Given the description of an element on the screen output the (x, y) to click on. 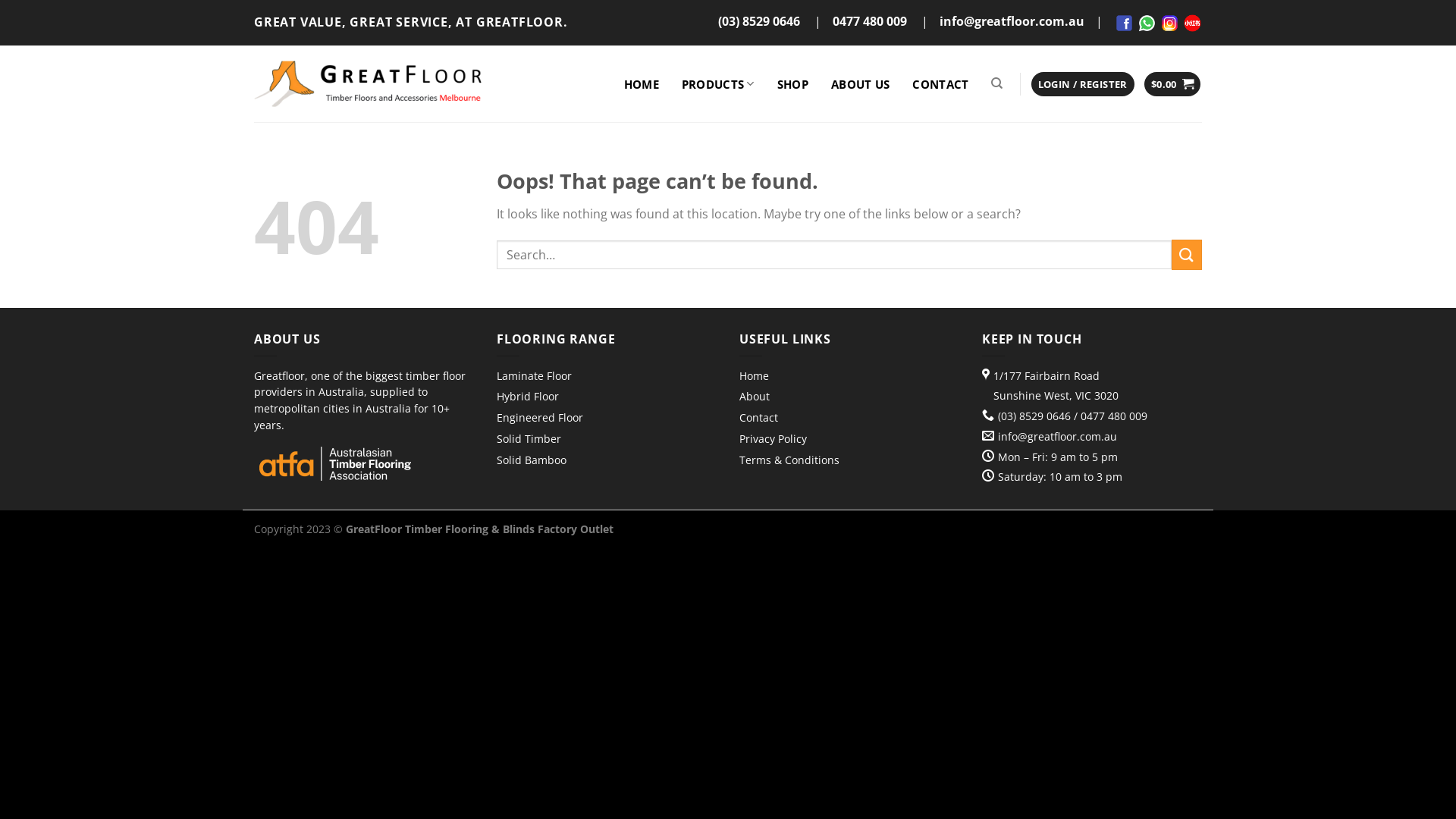
PRODUCTS Element type: text (718, 83)
info@greatfloor.com.au Element type: text (1011, 20)
Solid Timber Element type: text (528, 440)
Laminate Floor Element type: text (533, 378)
LOGIN / REGISTER Element type: text (1082, 84)
info@greatfloor.com.au Element type: text (1057, 436)
Skip to content Element type: text (0, 0)
Contact Element type: text (758, 419)
Solid Bamboo Element type: text (531, 462)
$0.00 Element type: text (1172, 84)
CONTACT Element type: text (939, 83)
Privacy Policy Element type: text (772, 440)
GreatFloor Timber Flooring & Blinds Factory Outlet Element type: hover (367, 83)
HOME Element type: text (641, 83)
SHOP Element type: text (792, 83)
ABOUT US Element type: text (860, 83)
Terms & Conditions Element type: text (789, 462)
Hybrid Floor Element type: text (527, 398)
Home Element type: text (753, 378)
Engineered Floor Element type: text (539, 419)
About Element type: text (754, 398)
